Given the description of an element on the screen output the (x, y) to click on. 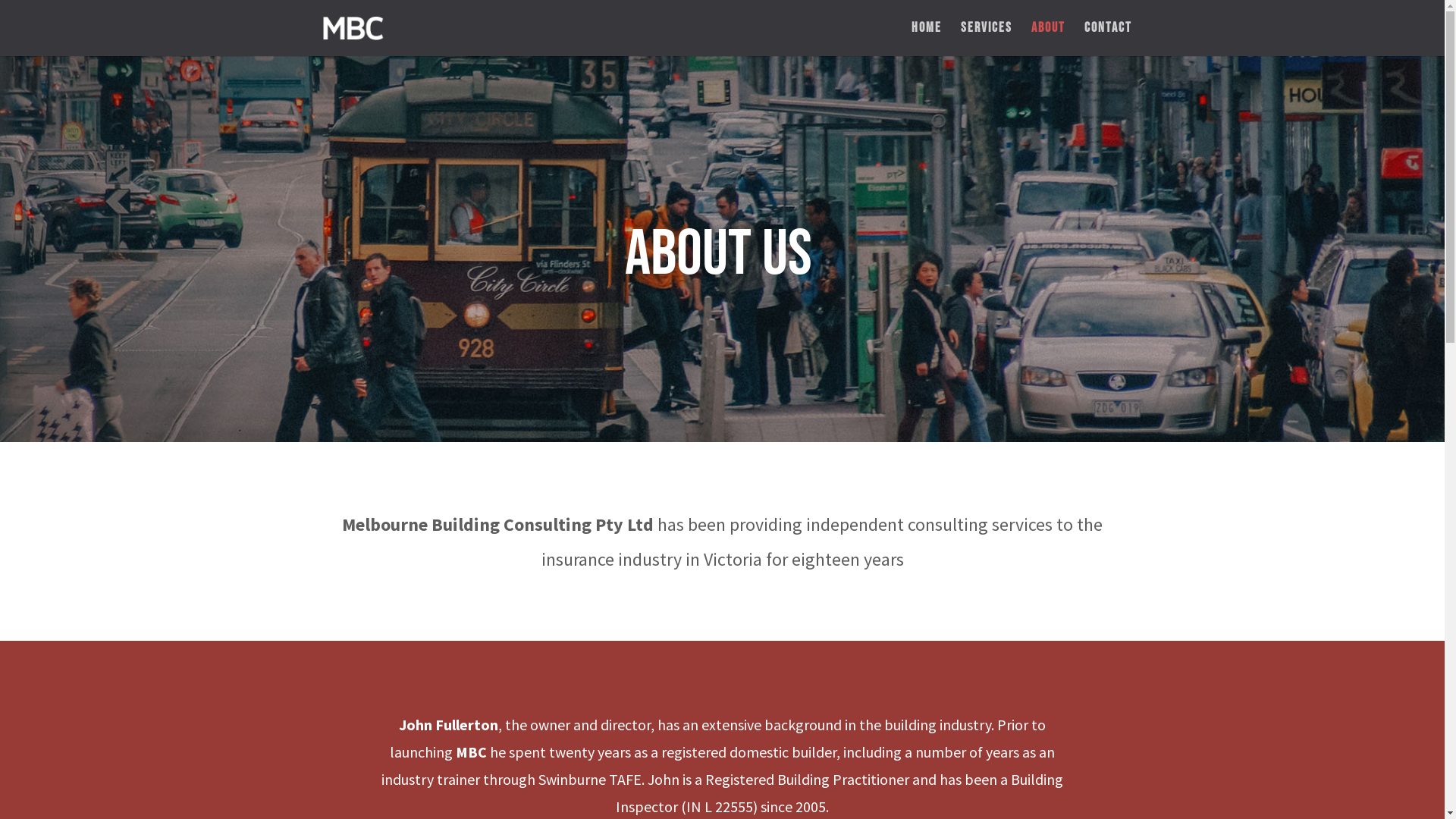
ABOUT Element type: text (1048, 39)
SERVICES Element type: text (985, 39)
CONTACT Element type: text (1108, 39)
HOME Element type: text (926, 39)
